Given the description of an element on the screen output the (x, y) to click on. 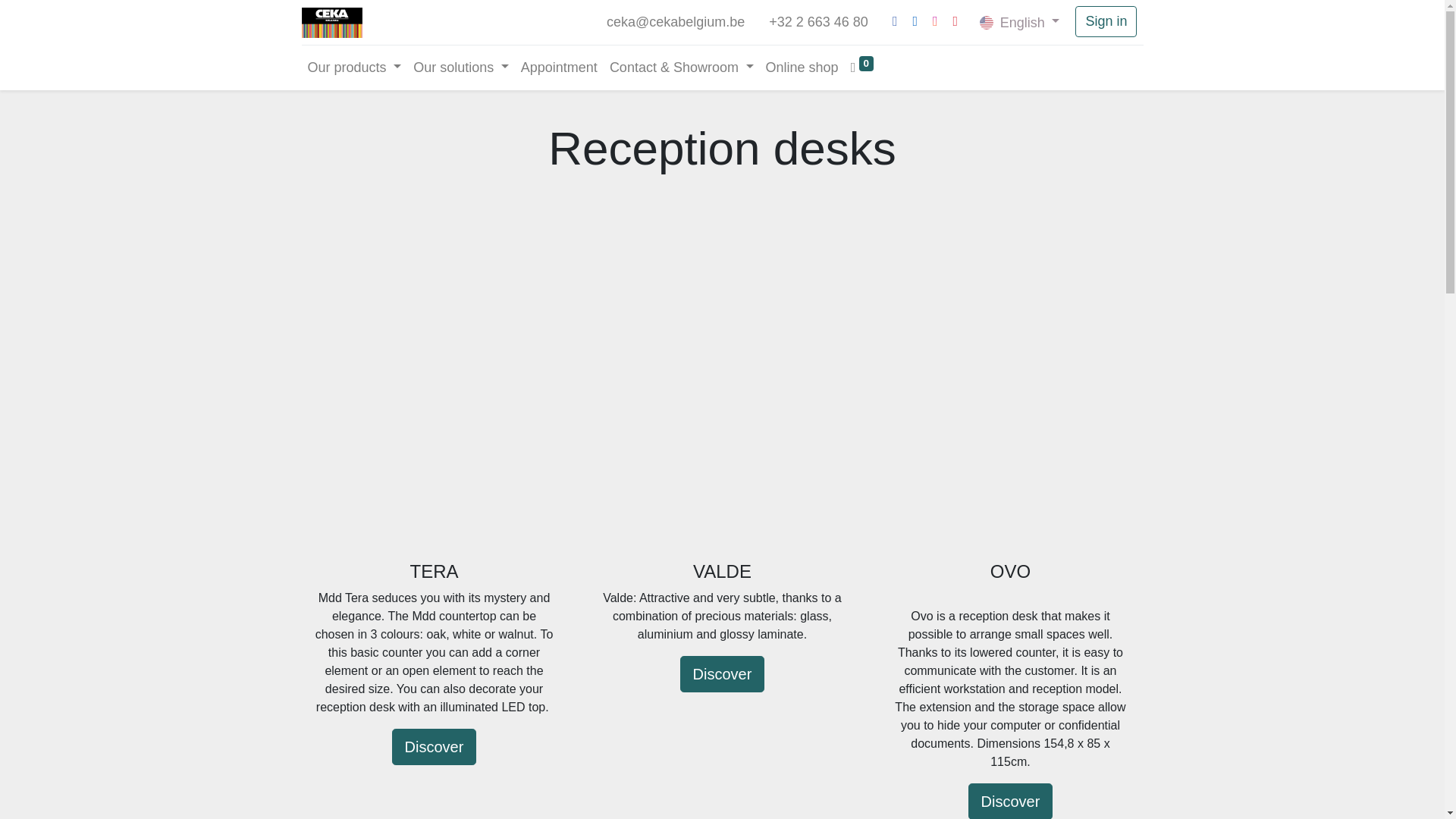
Sign in (1106, 20)
English (1018, 21)
Our products (354, 67)
CEKA Belgium (331, 22)
